Given the description of an element on the screen output the (x, y) to click on. 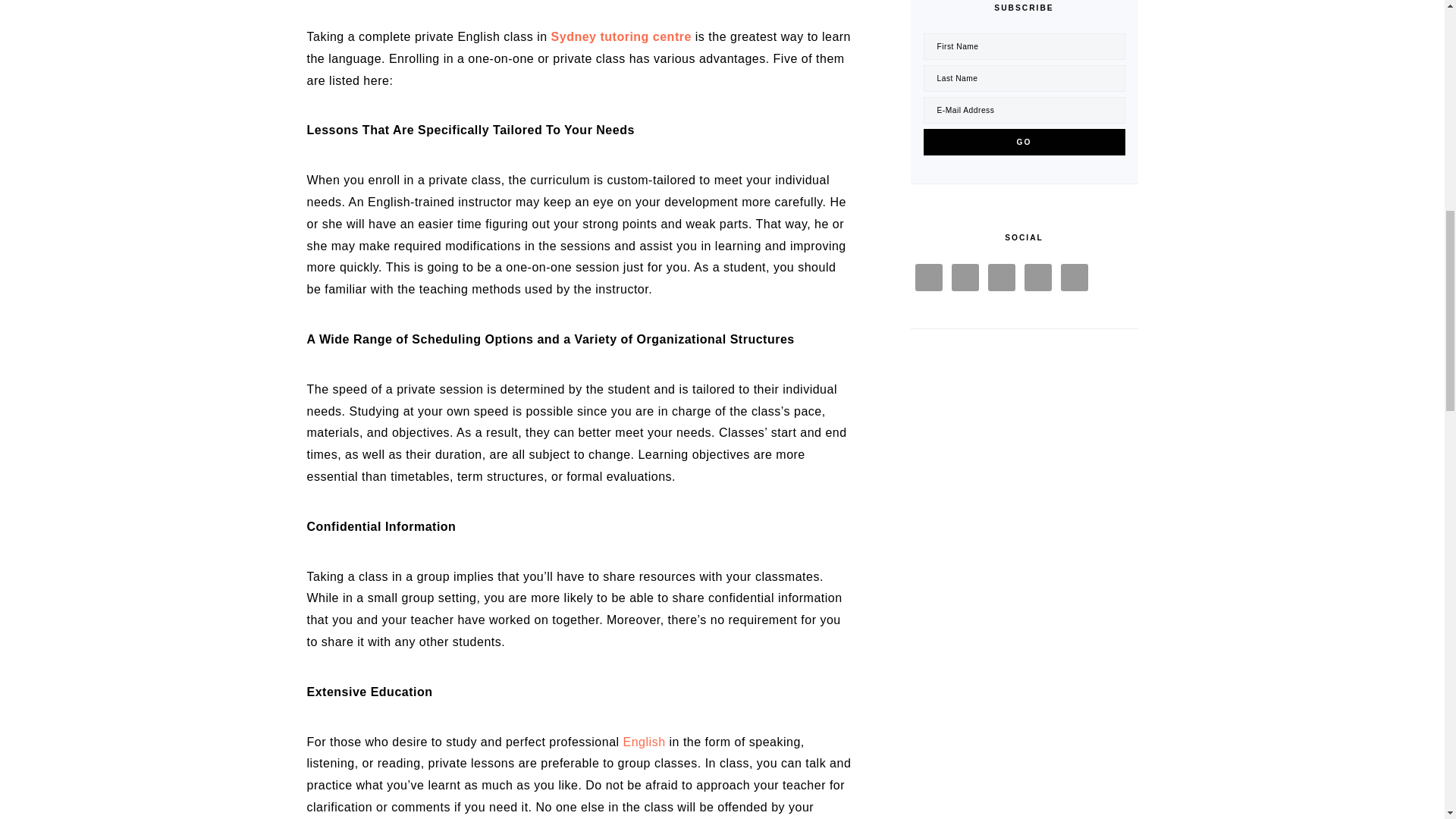
English (644, 741)
Sydney tutoring centre (621, 36)
Go (1024, 141)
Go (1024, 141)
